Given the description of an element on the screen output the (x, y) to click on. 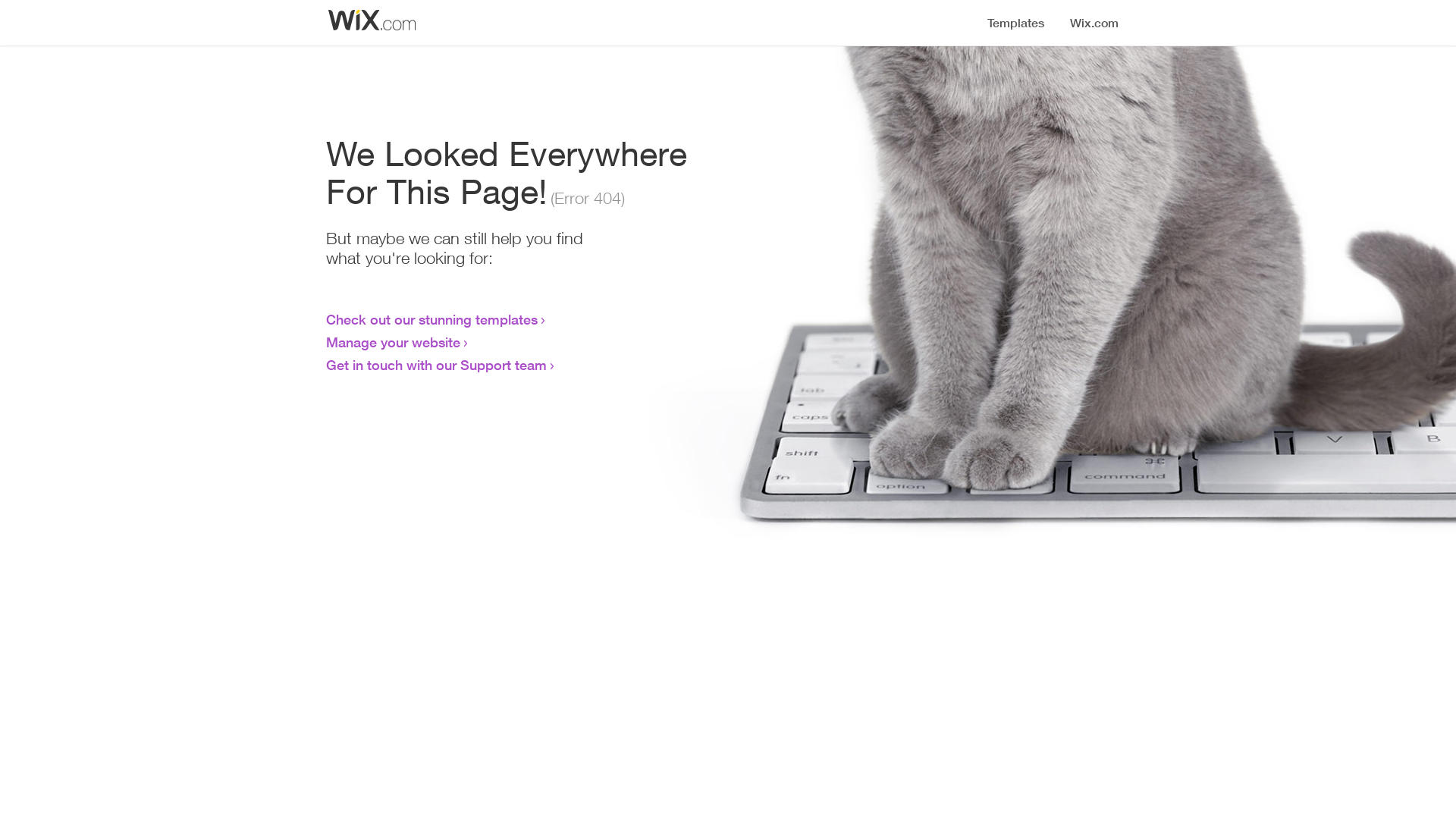
Check out our stunning templates Element type: text (431, 318)
Get in touch with our Support team Element type: text (436, 364)
Manage your website Element type: text (393, 341)
